Given the description of an element on the screen output the (x, y) to click on. 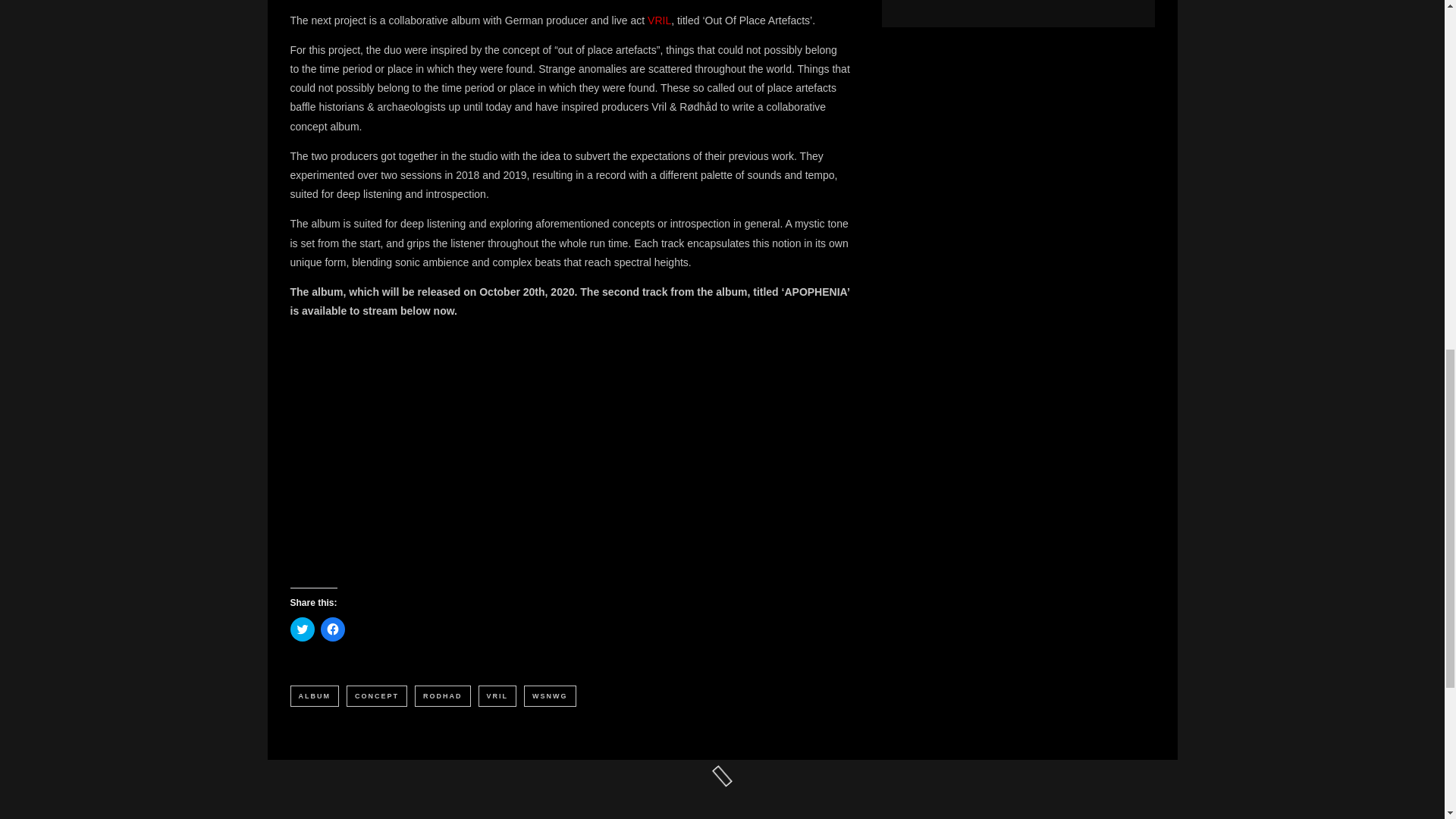
Click to share on Twitter (301, 629)
Click to share on Facebook (331, 629)
VRIL (659, 20)
